Given the description of an element on the screen output the (x, y) to click on. 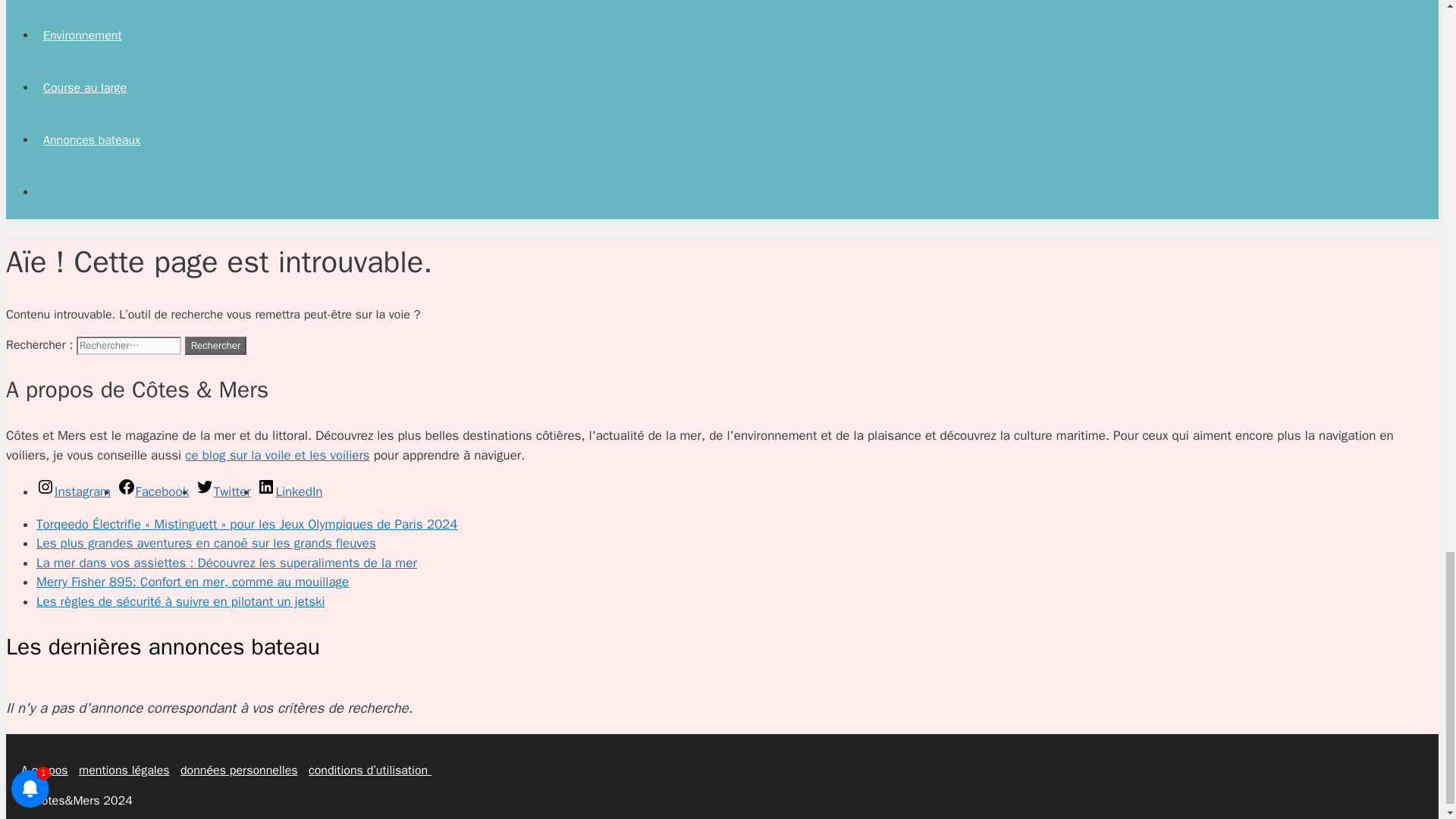
Rechercher (215, 345)
Rechercher (215, 345)
